Given the description of an element on the screen output the (x, y) to click on. 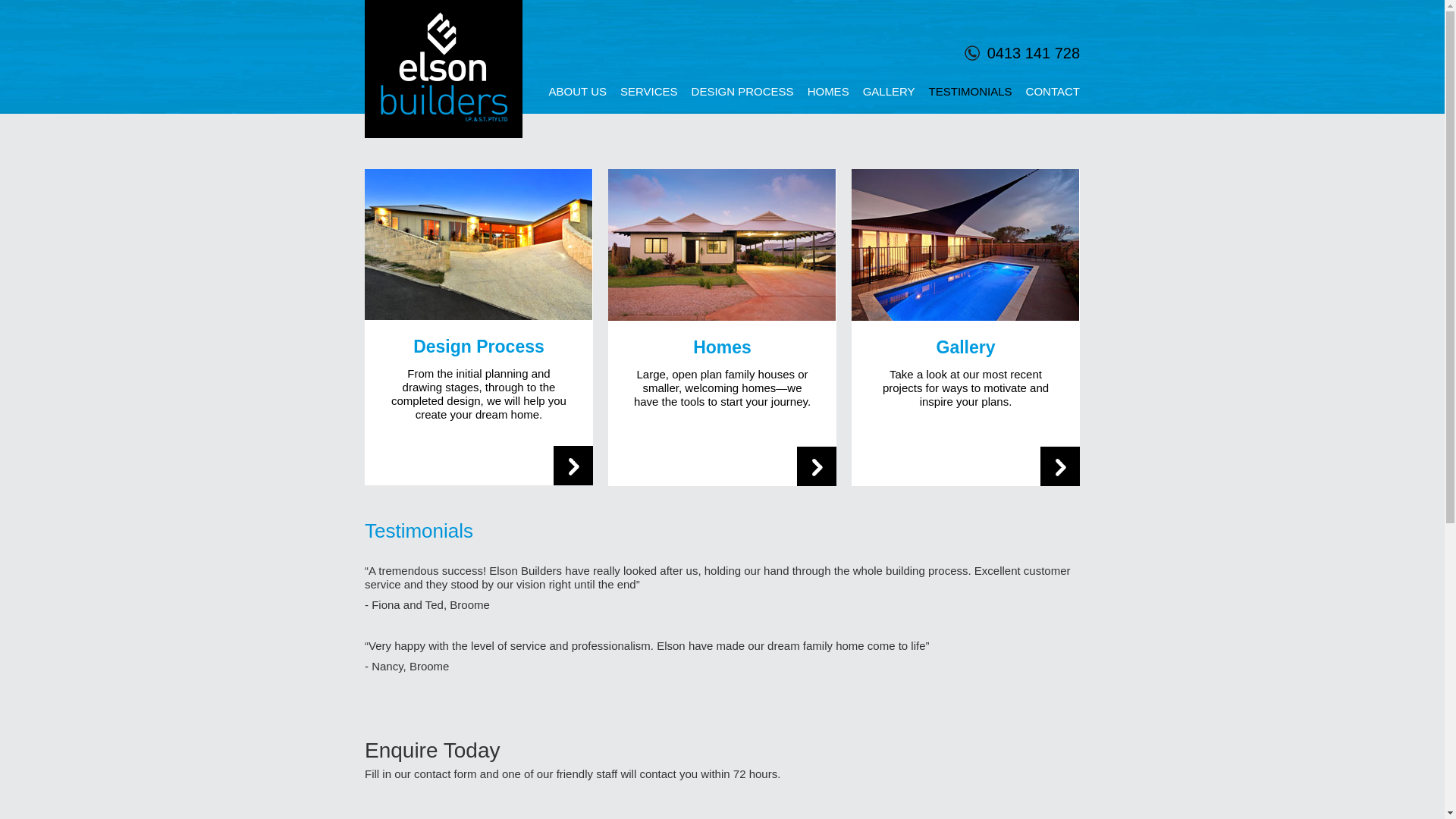
HOMES Element type: text (828, 91)
DESIGN PROCESS Element type: text (742, 91)
CONTACT Element type: text (1052, 91)
SERVICES Element type: text (648, 91)
TESTIMONIALS Element type: text (970, 91)
ABOUT US Element type: text (577, 91)
0413 141 728 Element type: text (1021, 51)
GALLERY Element type: text (888, 91)
